Given the description of an element on the screen output the (x, y) to click on. 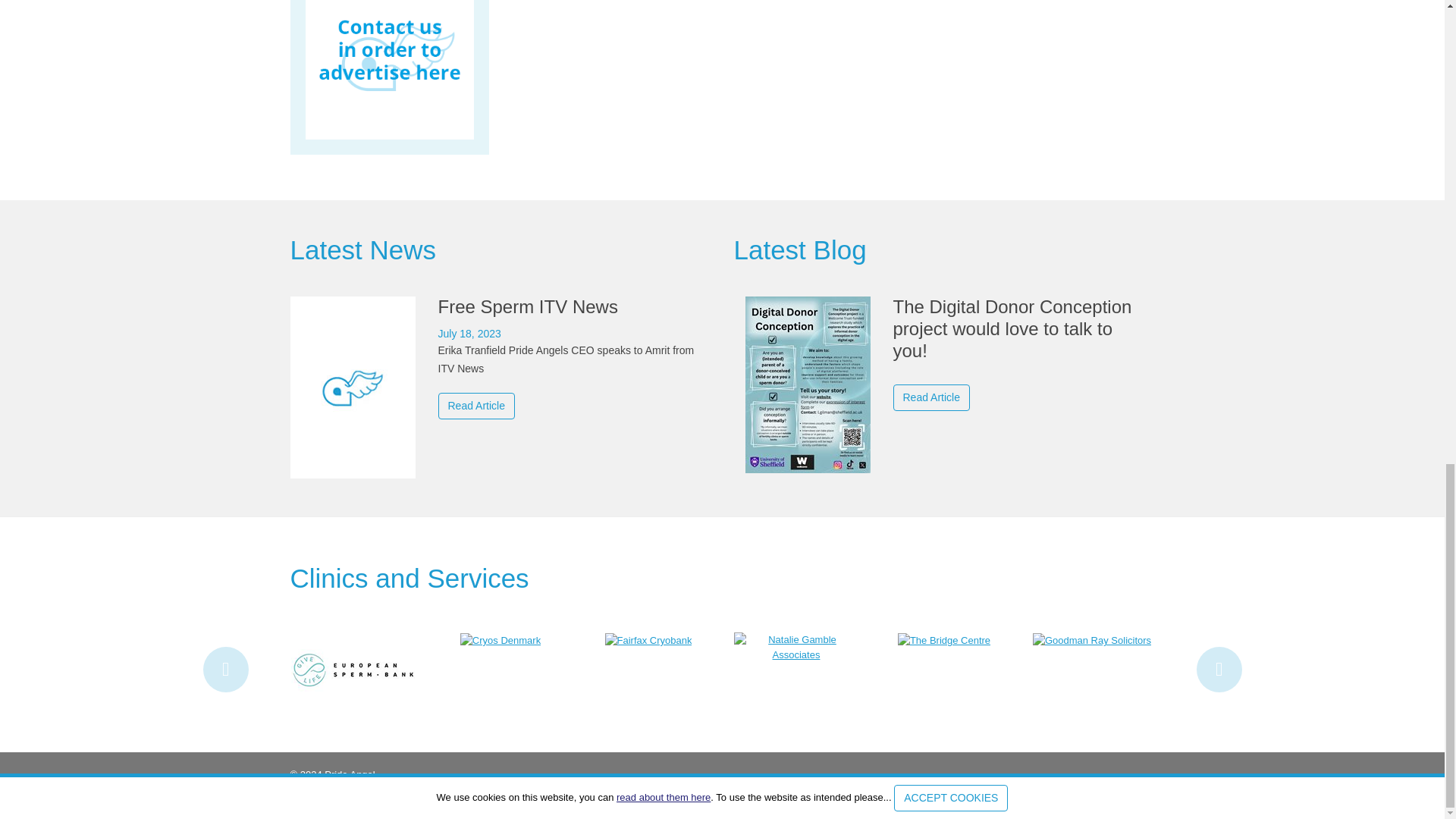
View Clinics and Services (408, 577)
Natalie Gamble Associates (796, 645)
Free Sperm ITV News (499, 357)
View all (362, 249)
View all (799, 249)
Fairfax Cryobank (649, 639)
Advertise with Pride Angel (389, 70)
Cryos Denmark (500, 639)
European Sperm Bank (352, 668)
